Given the description of an element on the screen output the (x, y) to click on. 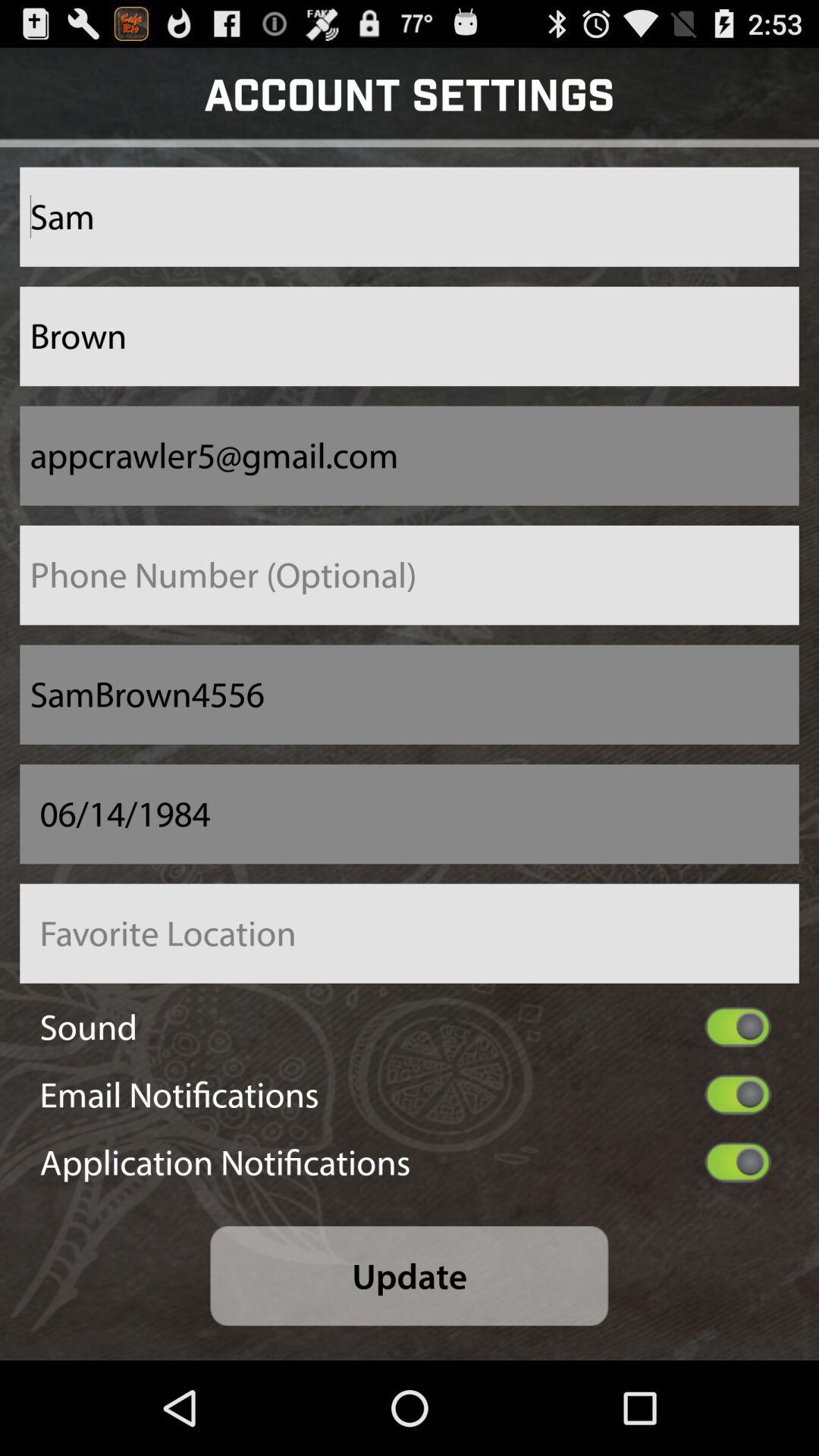
toggle application notifications option (737, 1162)
